Given the description of an element on the screen output the (x, y) to click on. 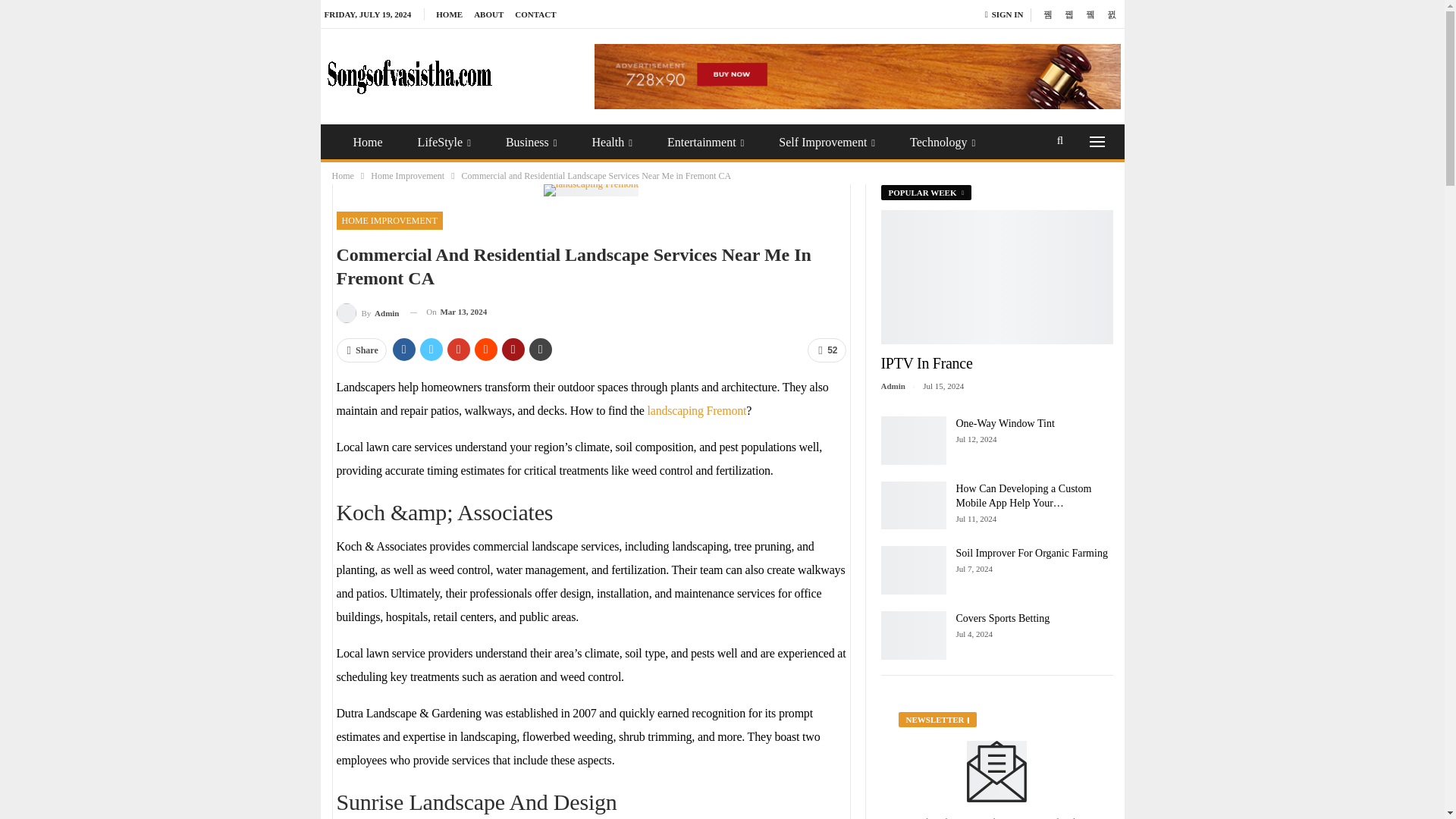
Browse Author Articles (367, 312)
Business (531, 142)
Entertainment (705, 142)
HOME (449, 13)
SIGN IN (1007, 14)
IPTV in France (996, 276)
Browse Author Articles (901, 385)
ABOUT (488, 13)
Home (366, 142)
LifeStyle (443, 142)
Health (612, 142)
CONTACT (535, 13)
